Given the description of an element on the screen output the (x, y) to click on. 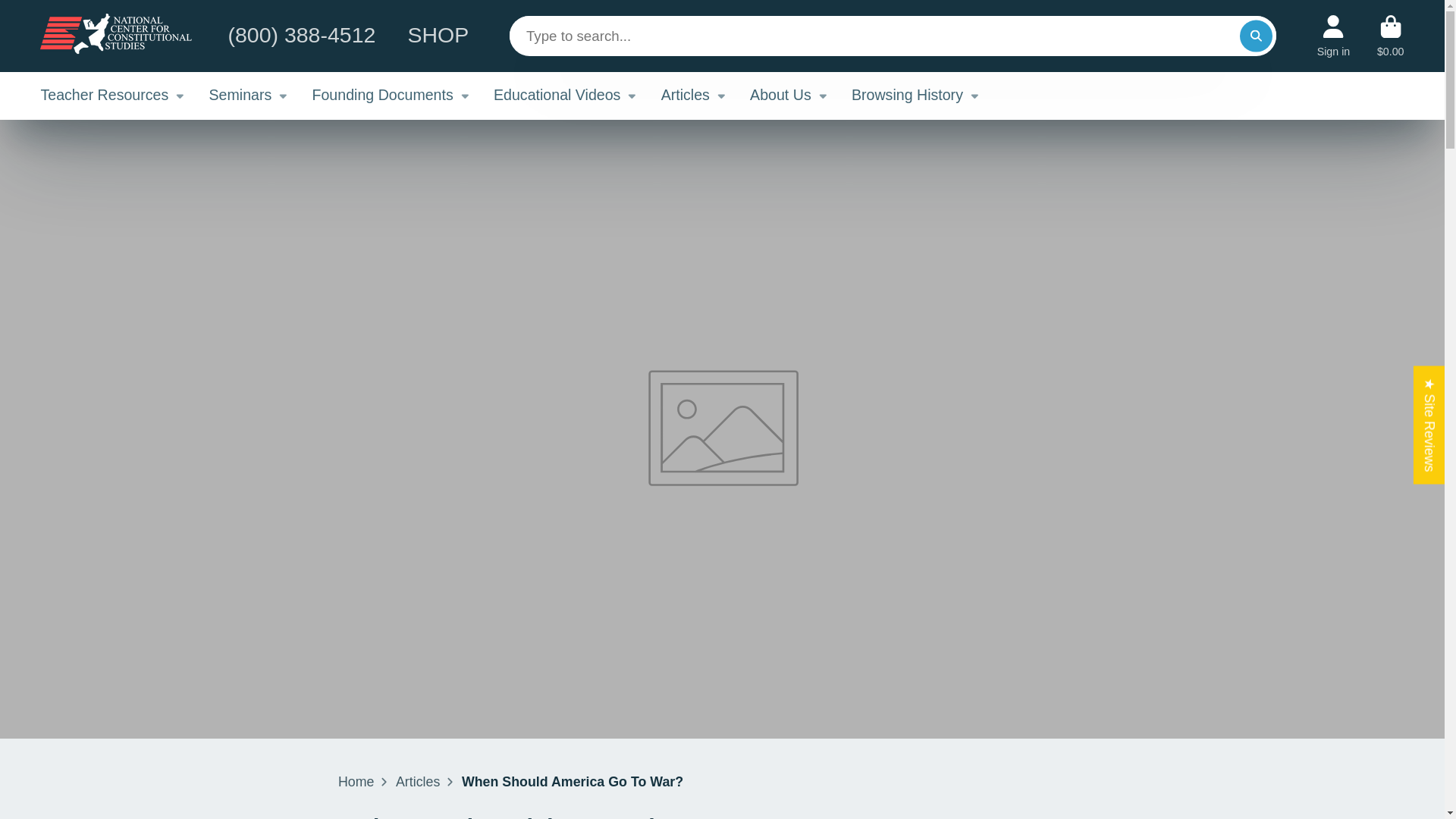
Founding Documents (391, 95)
Home (355, 782)
Logo (116, 36)
Teacher Resources (112, 95)
Articles (693, 95)
Articles (417, 782)
Cart (1391, 35)
About Us (788, 95)
Educational Videos (565, 95)
Browsing History (915, 95)
Account (1334, 35)
Seminars (248, 95)
